Given the description of an element on the screen output the (x, y) to click on. 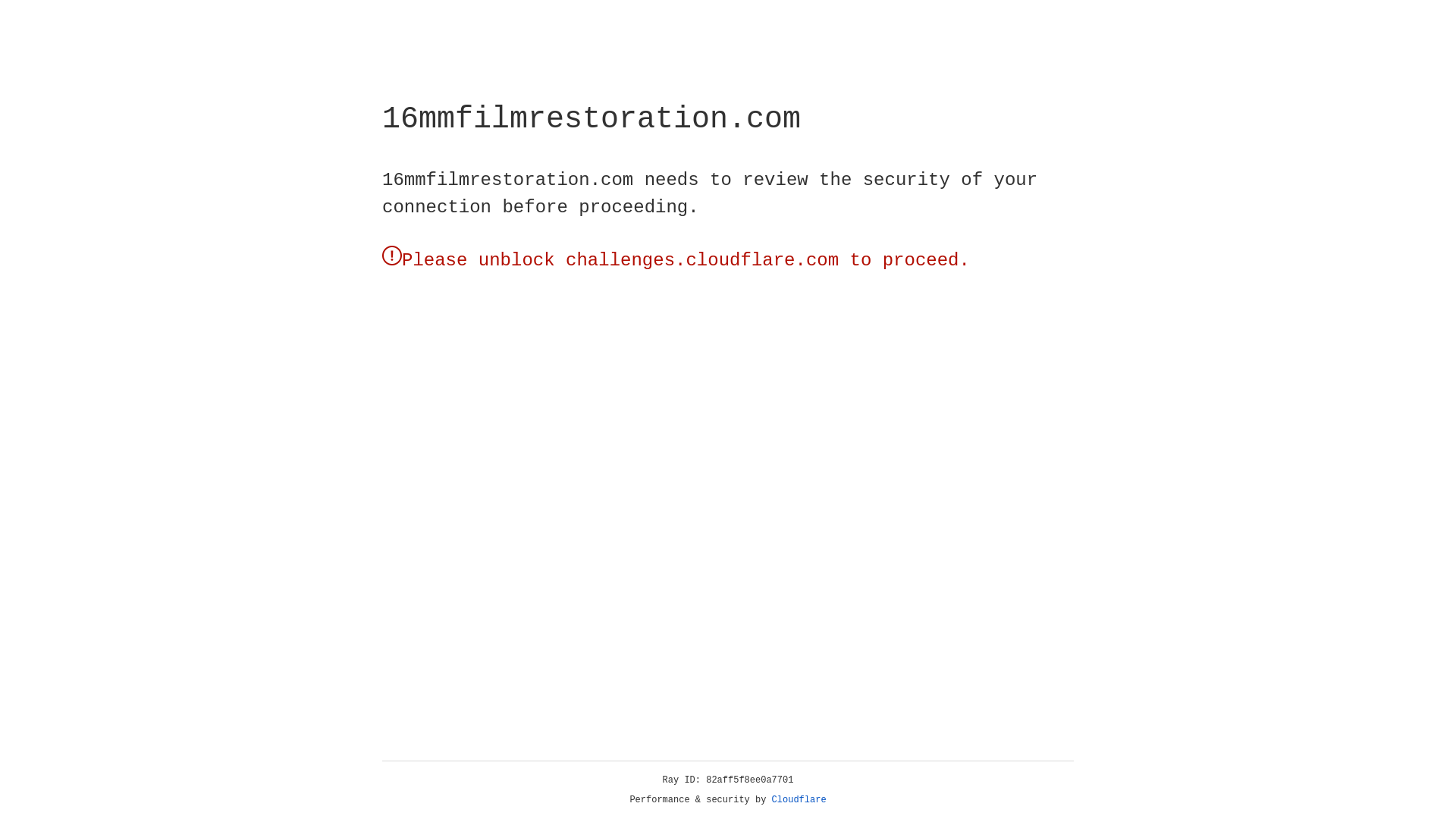
Cloudflare Element type: text (798, 799)
